Given the description of an element on the screen output the (x, y) to click on. 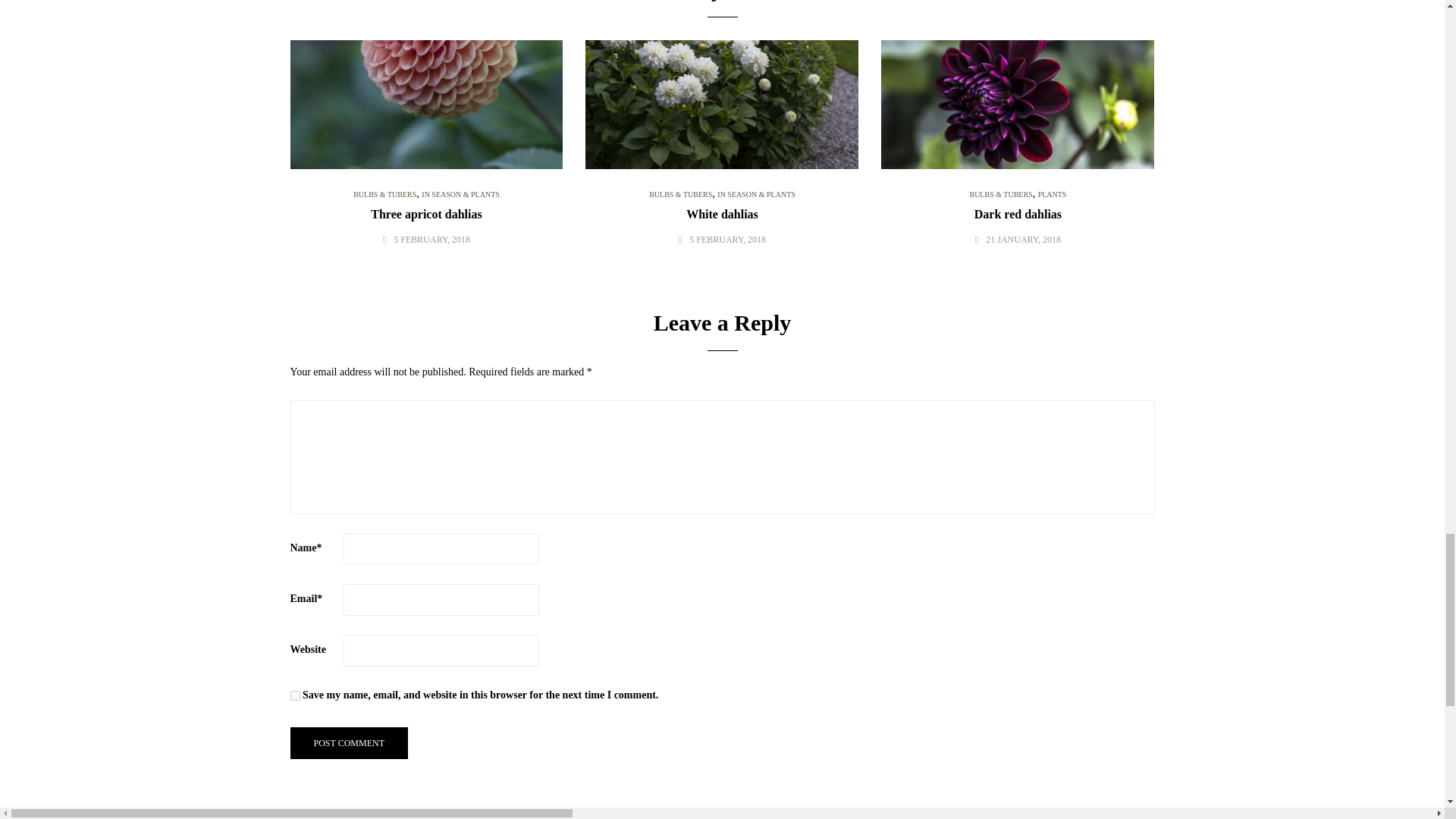
PLANTS (1052, 194)
Post comment (348, 743)
Dark red dahlias (1017, 214)
yes (294, 696)
Post comment (348, 743)
Three apricot dahlias (426, 214)
White dahlias (721, 214)
